Given the description of an element on the screen output the (x, y) to click on. 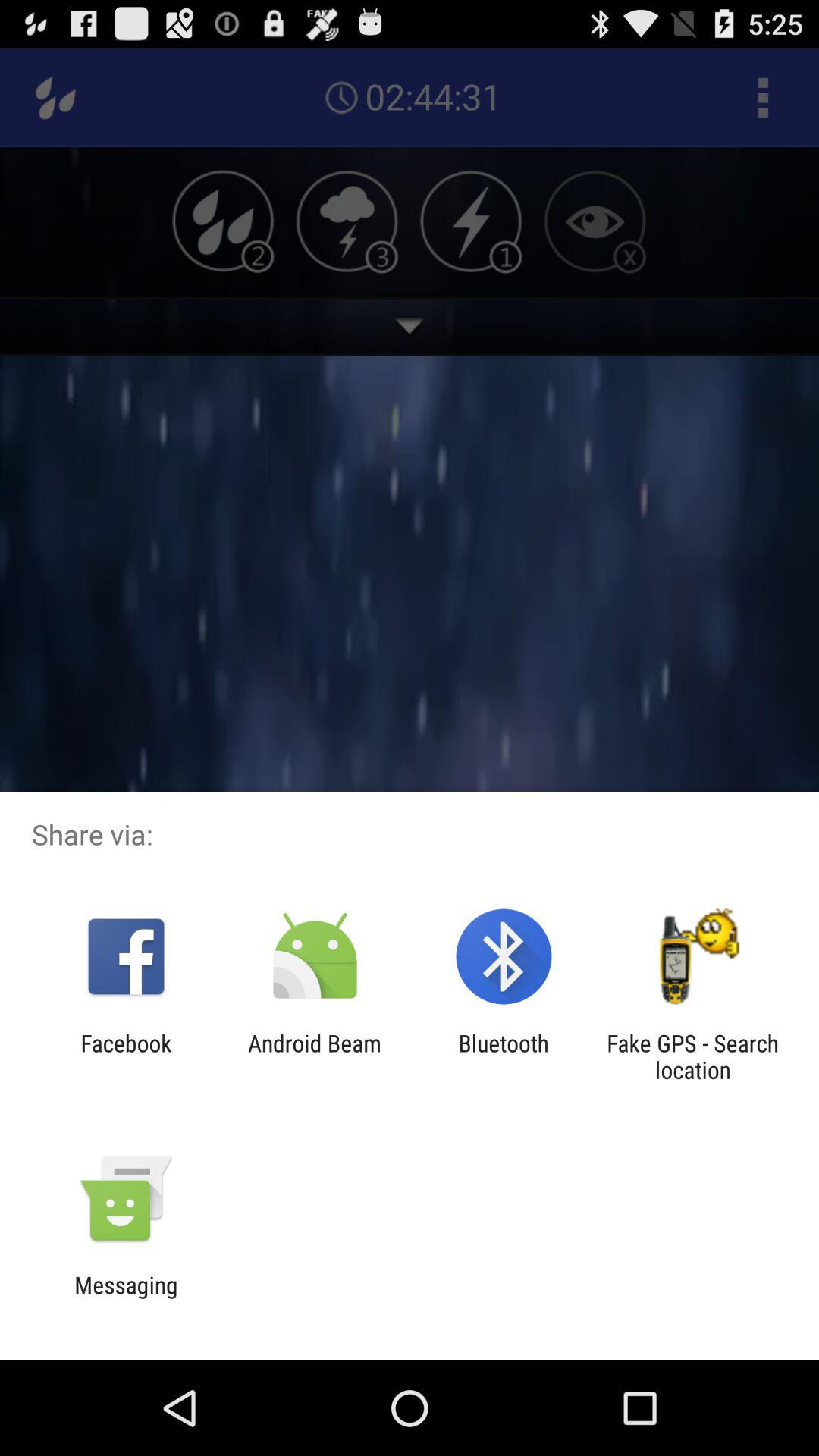
open android beam app (314, 1056)
